Given the description of an element on the screen output the (x, y) to click on. 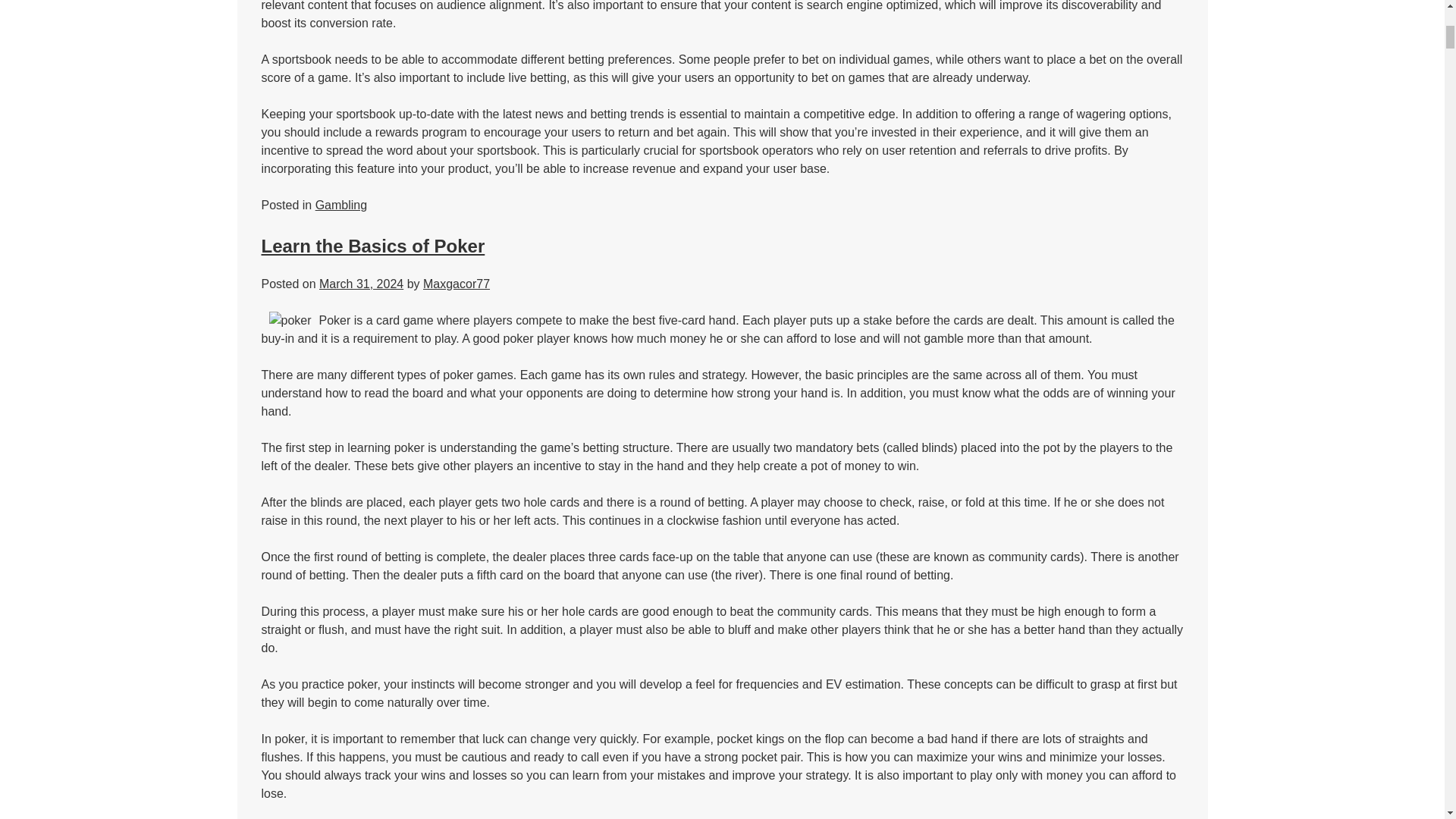
Maxgacor77 (456, 283)
March 31, 2024 (360, 283)
Gambling (340, 205)
Learn the Basics of Poker (372, 245)
